Given the description of an element on the screen output the (x, y) to click on. 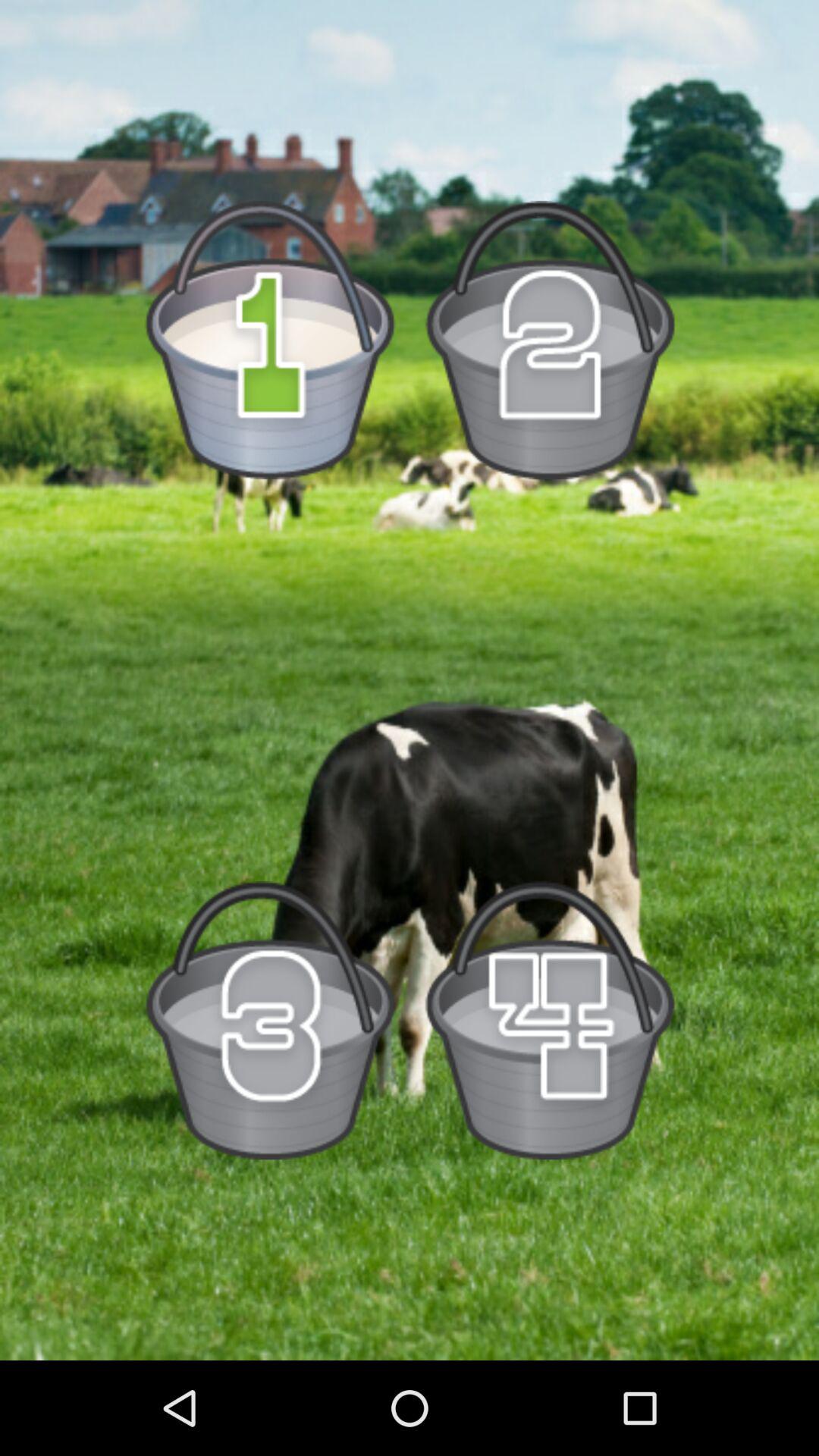
bucket number 2 option (548, 339)
